Given the description of an element on the screen output the (x, y) to click on. 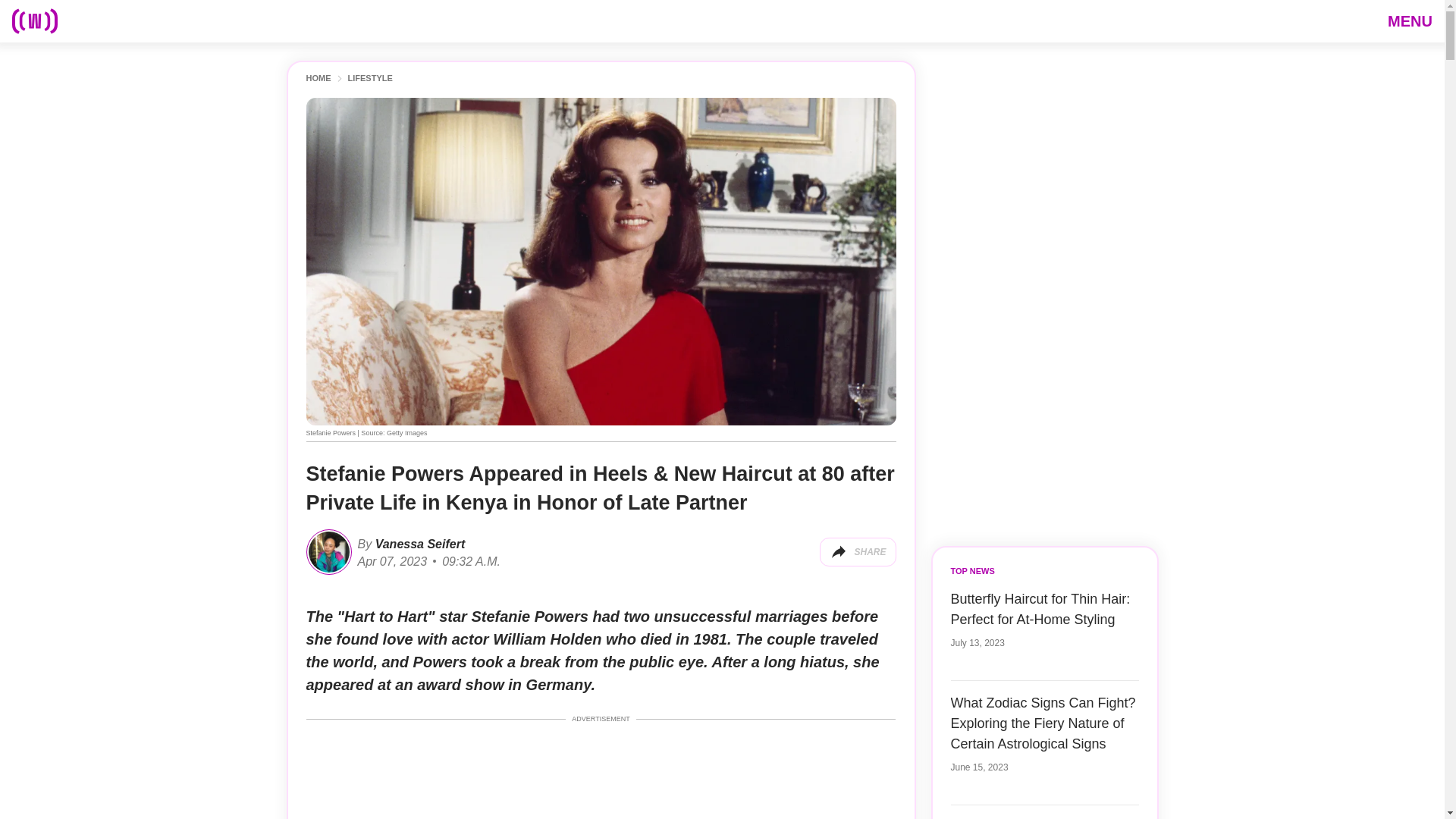
LIFESTYLE (369, 78)
MENU (1409, 20)
SHARE (857, 551)
Vanessa Seifert (417, 543)
HOME (318, 78)
